Given the description of an element on the screen output the (x, y) to click on. 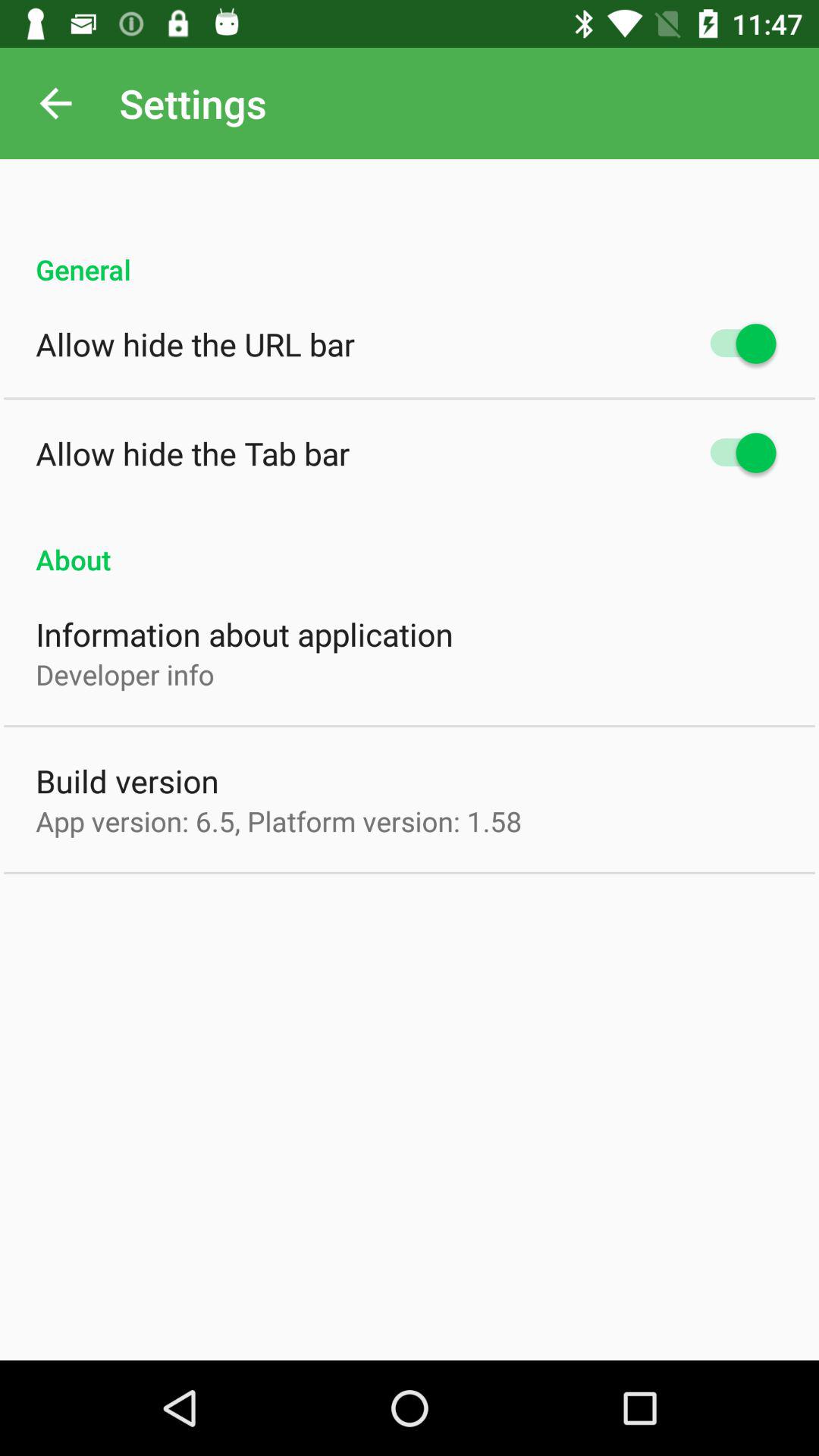
choose the developer info icon (124, 674)
